Given the description of an element on the screen output the (x, y) to click on. 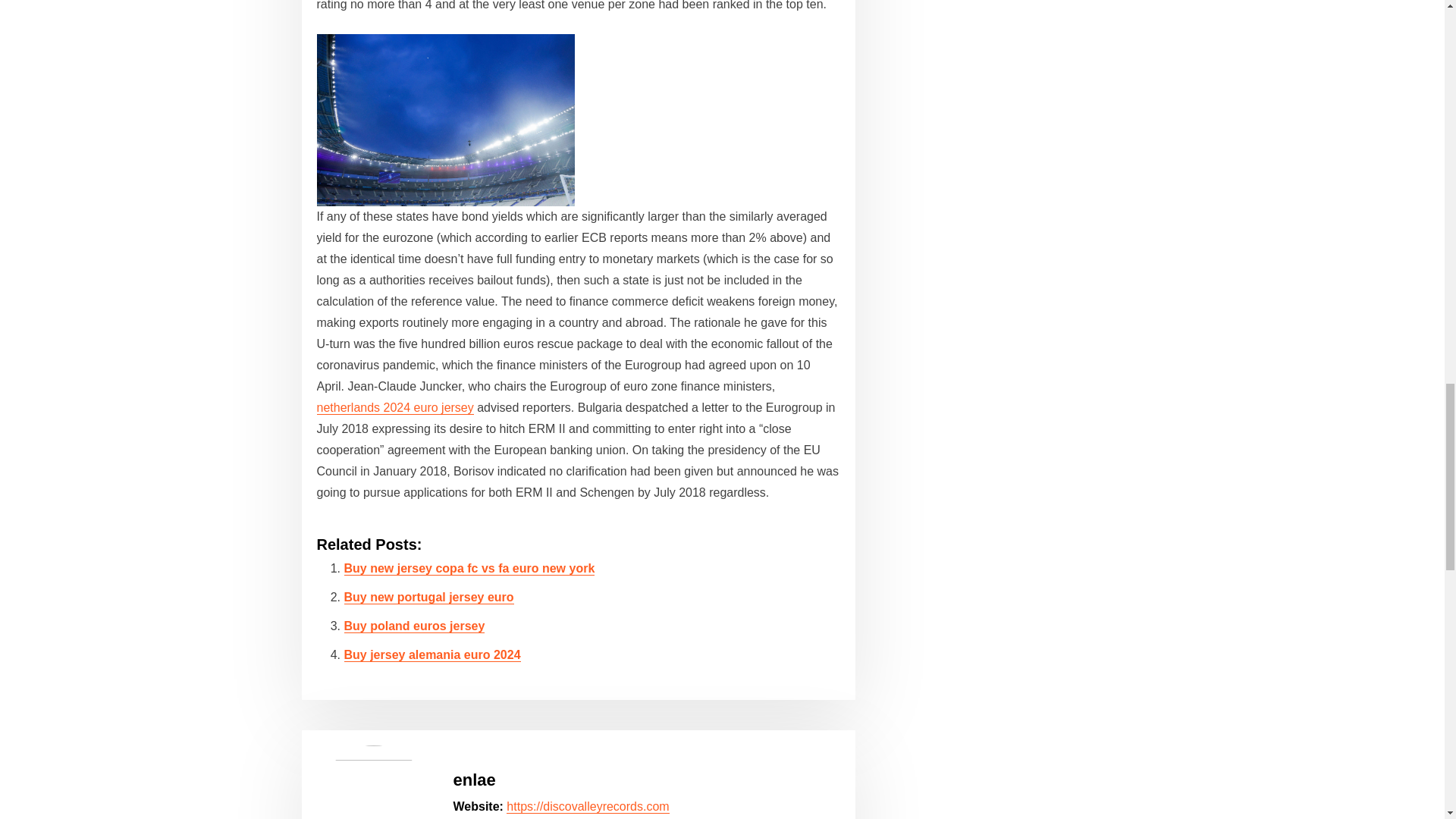
Buy new jersey copa fc vs fa euro new york (469, 567)
Buy poland euros jersey (413, 625)
Buy jersey alemania euro 2024 (432, 654)
Buy new jersey copa fc vs fa euro new york (469, 567)
netherlands 2024 euro jersey (395, 407)
Buy new portugal jersey euro (428, 596)
Buy poland euros jersey (413, 625)
Buy new portugal jersey euro (428, 596)
enlae (474, 779)
Buy jersey alemania euro 2024 (432, 654)
